Given the description of an element on the screen output the (x, y) to click on. 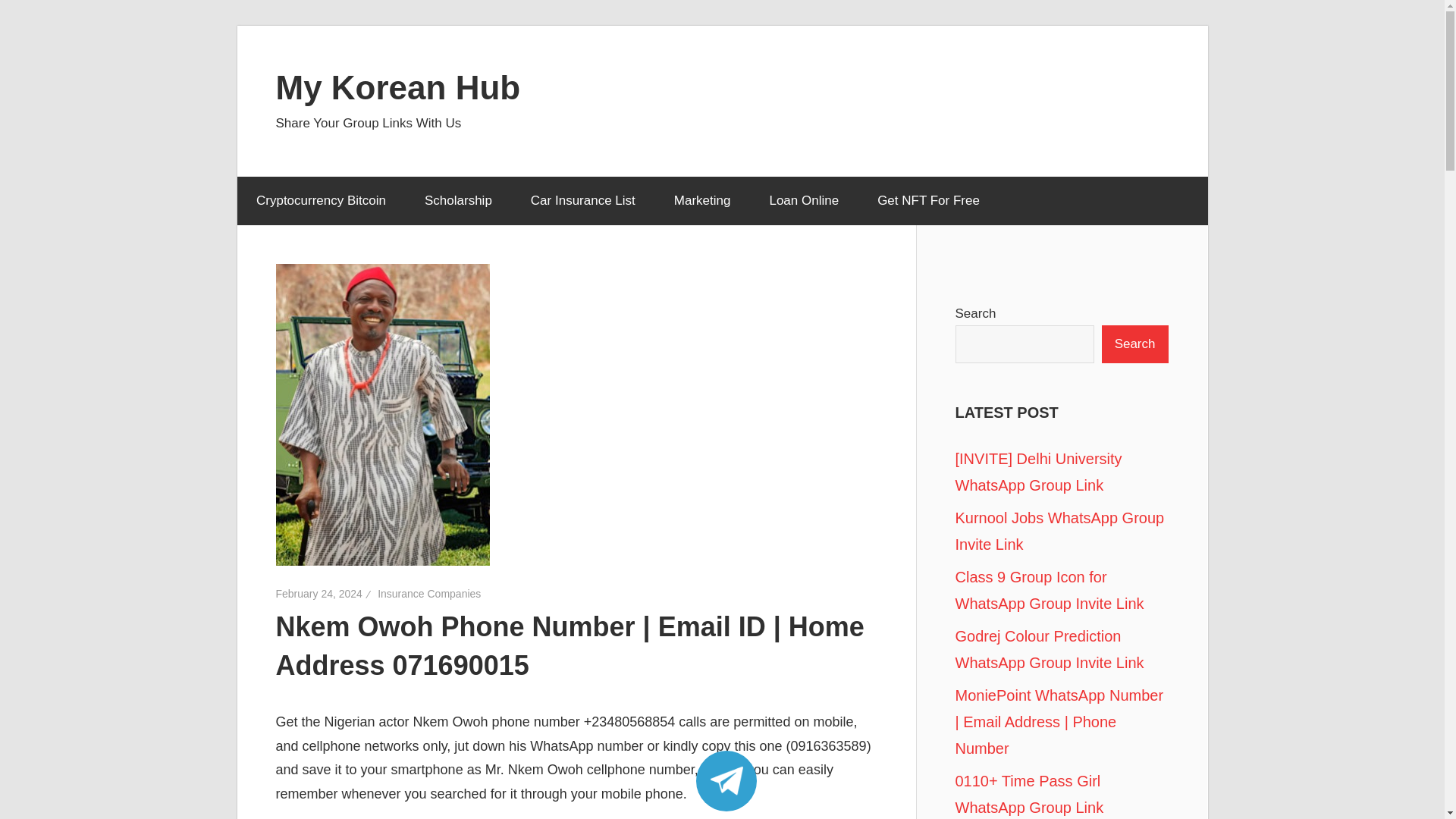
Search (1135, 344)
Telegram (726, 780)
Cryptocurrency Bitcoin (319, 200)
Get NFT For Free (928, 200)
Godrej Colour Prediction WhatsApp Group Invite Link (1049, 649)
Car Insurance List (582, 200)
Kurnool Jobs WhatsApp Group Invite Link (1059, 530)
View all posts by Insurance Companies (428, 593)
Marketing (701, 200)
February 24, 2024 (319, 593)
1:50 pm (319, 593)
My Korean Hub (398, 86)
Insurance Companies (428, 593)
Class 9 Group Icon for WhatsApp Group Invite Link (1049, 589)
